Given the description of an element on the screen output the (x, y) to click on. 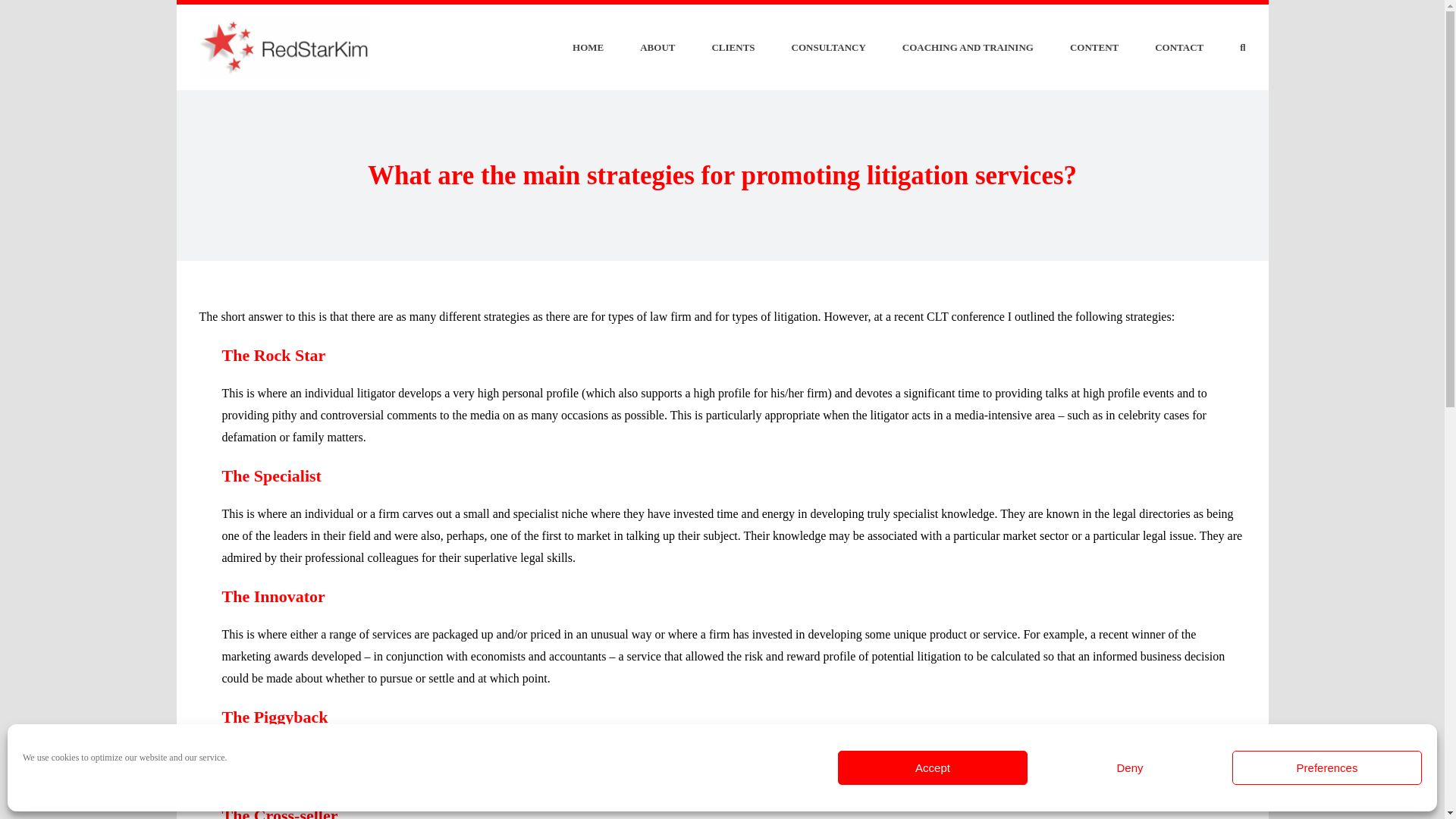
Accept (932, 767)
Deny (1129, 767)
COACHING AND TRAINING (967, 47)
Preferences (1326, 767)
